Given the description of an element on the screen output the (x, y) to click on. 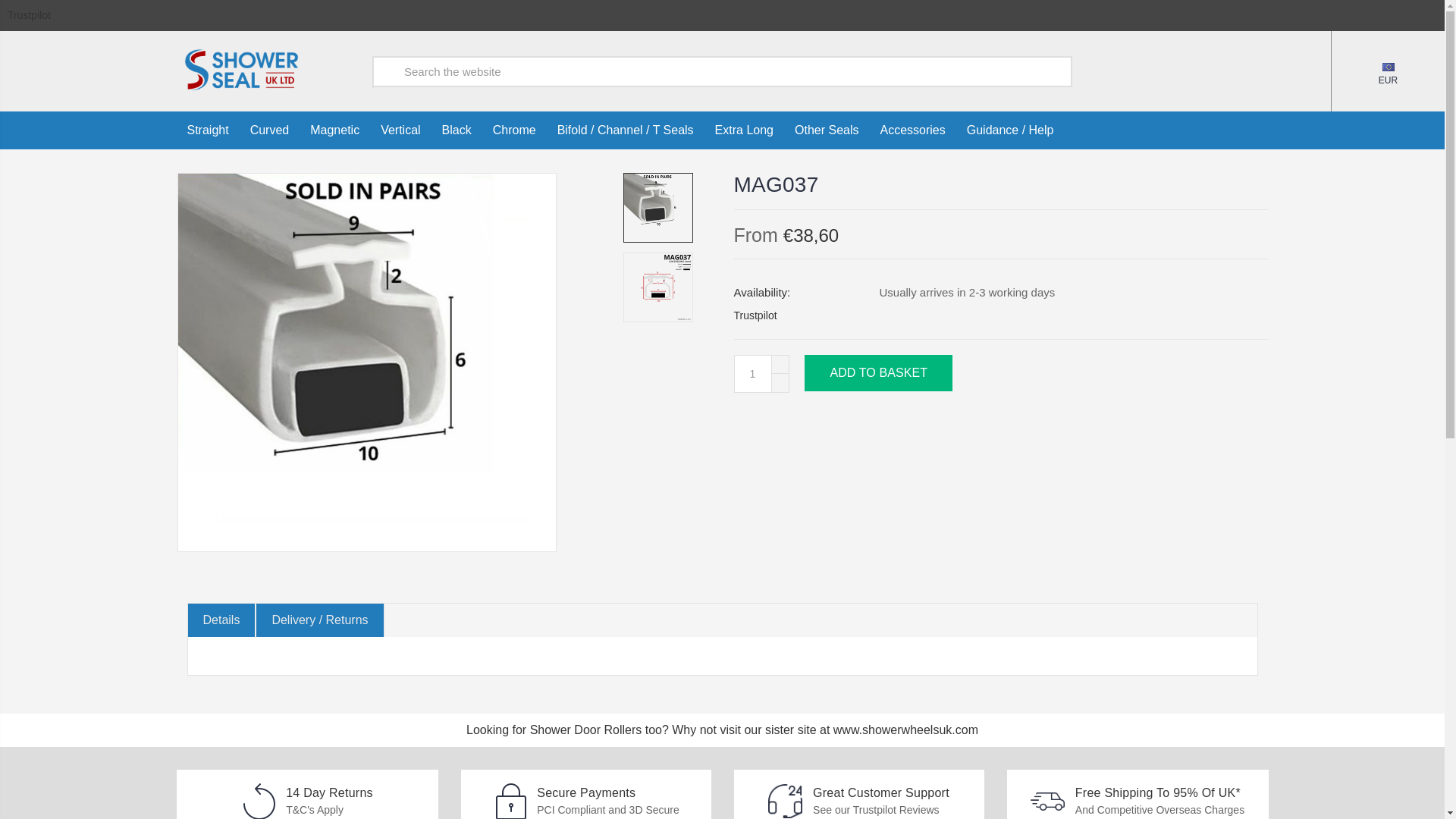
Trustpilot (28, 15)
MAG037 - Magnetic Shower Door Seal (658, 207)
1 (752, 373)
MAG037 - Magnetic Shower Door Seal Diagram (658, 287)
Shower Seal UK (240, 69)
Add to Basket (878, 372)
